Given the description of an element on the screen output the (x, y) to click on. 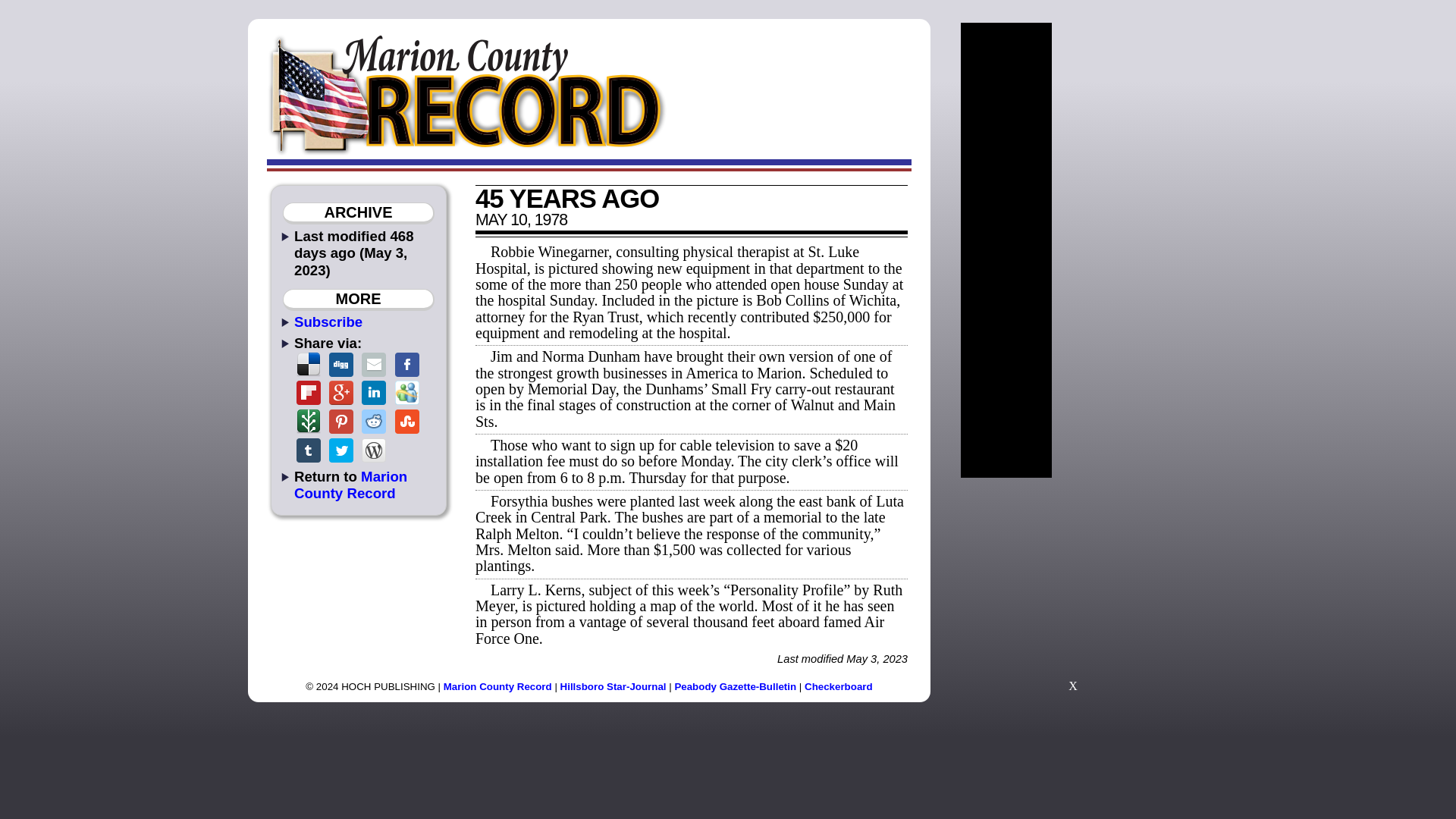
Peabody Gazette-Bulletin (735, 686)
Marion County Record (497, 686)
Marion County Record (350, 484)
Subscribe (328, 321)
Checkerboard (838, 686)
Hillsboro Star-Journal (613, 686)
Advertisement (1072, 591)
